Given the description of an element on the screen output the (x, y) to click on. 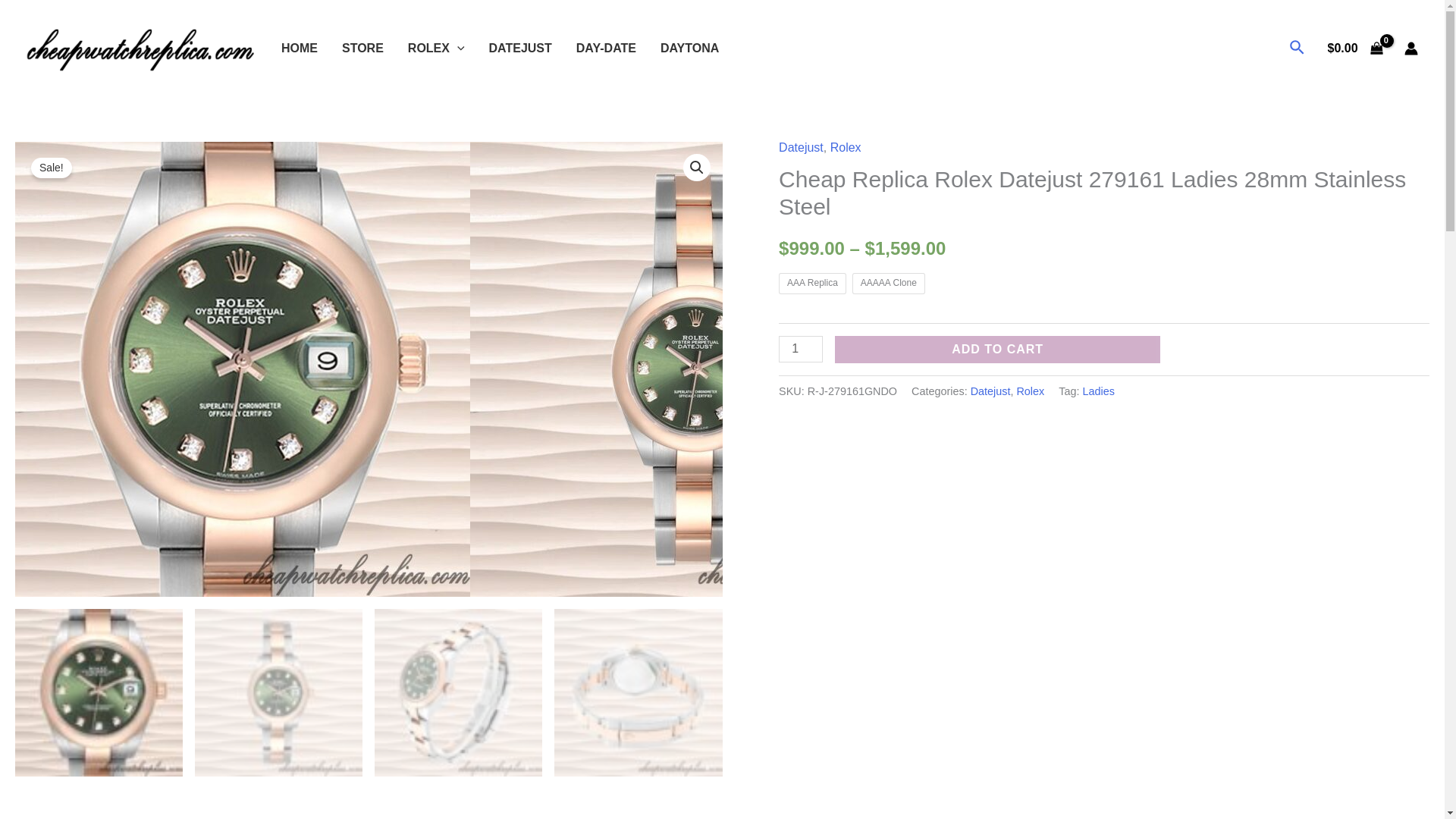
HOME (299, 47)
STORE (363, 47)
ROLEX (436, 47)
DAY-DATE (605, 47)
DATEJUST (520, 47)
DAYTONA (688, 47)
Rolex (845, 146)
Qty (800, 348)
Datejust (801, 146)
1 (800, 348)
